Given the description of an element on the screen output the (x, y) to click on. 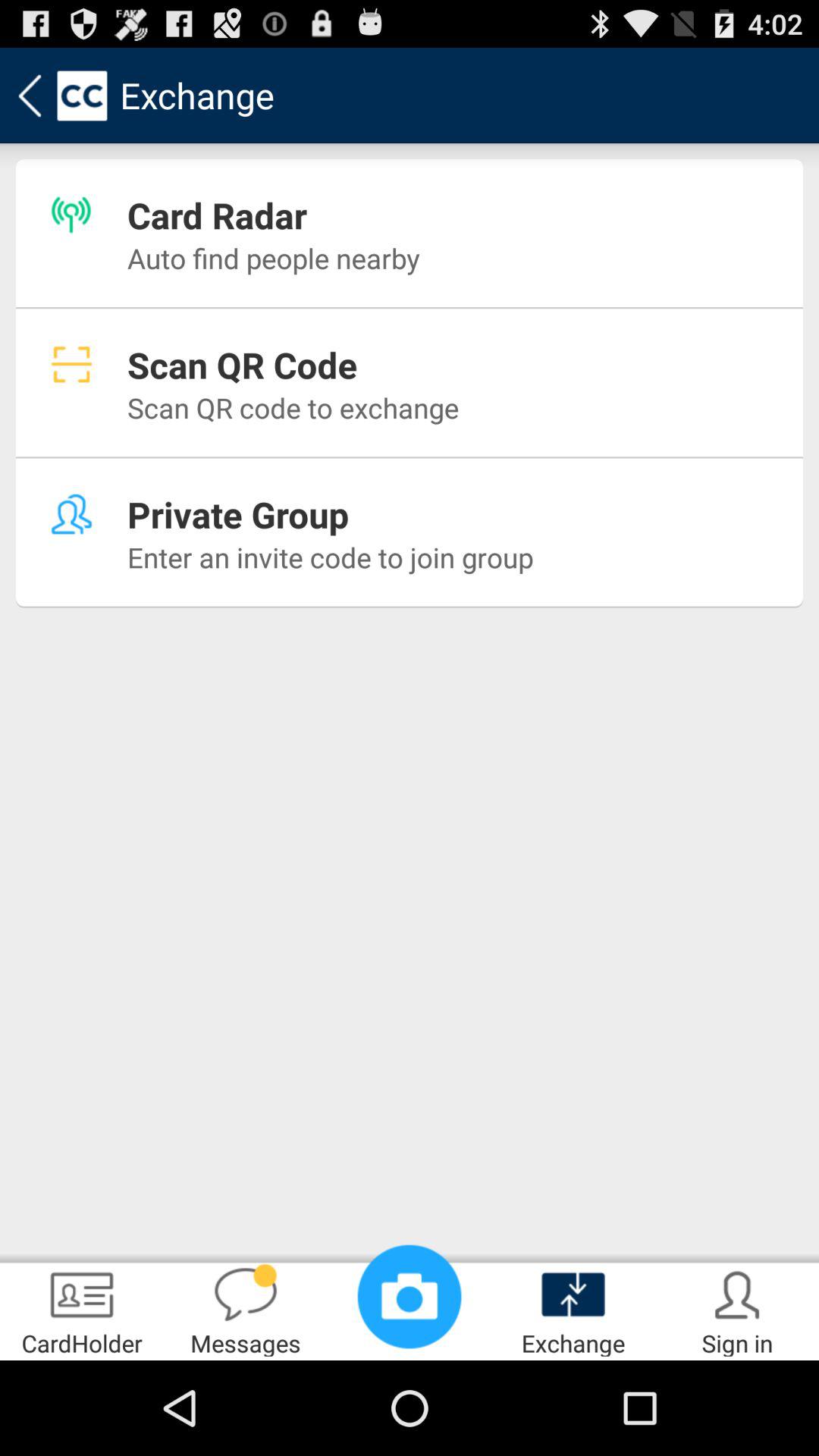
tap icon next to the exchange item (409, 1296)
